Given the description of an element on the screen output the (x, y) to click on. 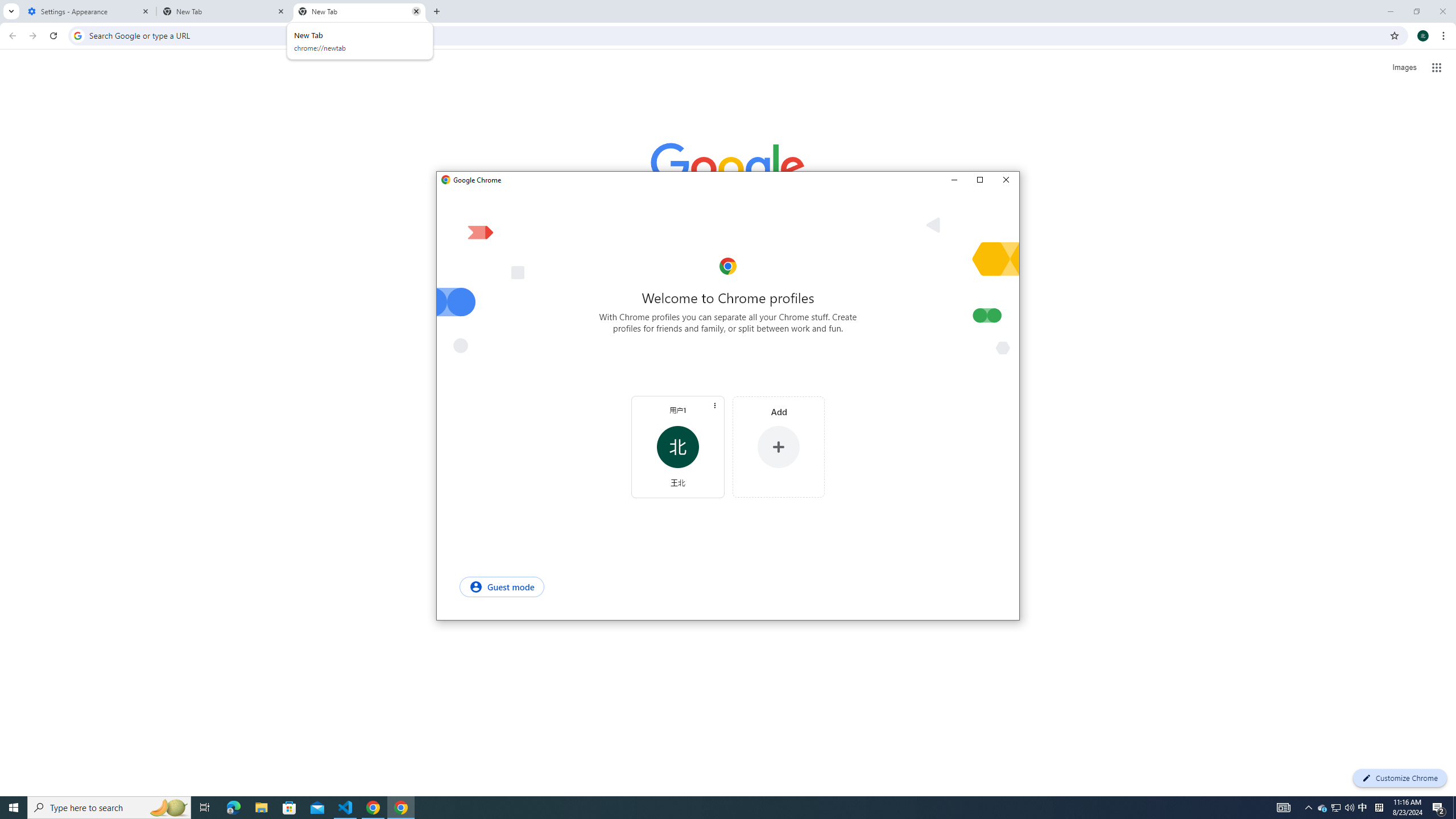
Running applications (700, 807)
Search highlights icon opens search home window (167, 807)
New Tab (359, 11)
Notification Chevron (1308, 807)
Settings - Appearance (1362, 807)
Q2790: 100% (88, 11)
Microsoft Store (1349, 807)
Microsoft Edge (289, 807)
